Given the description of an element on the screen output the (x, y) to click on. 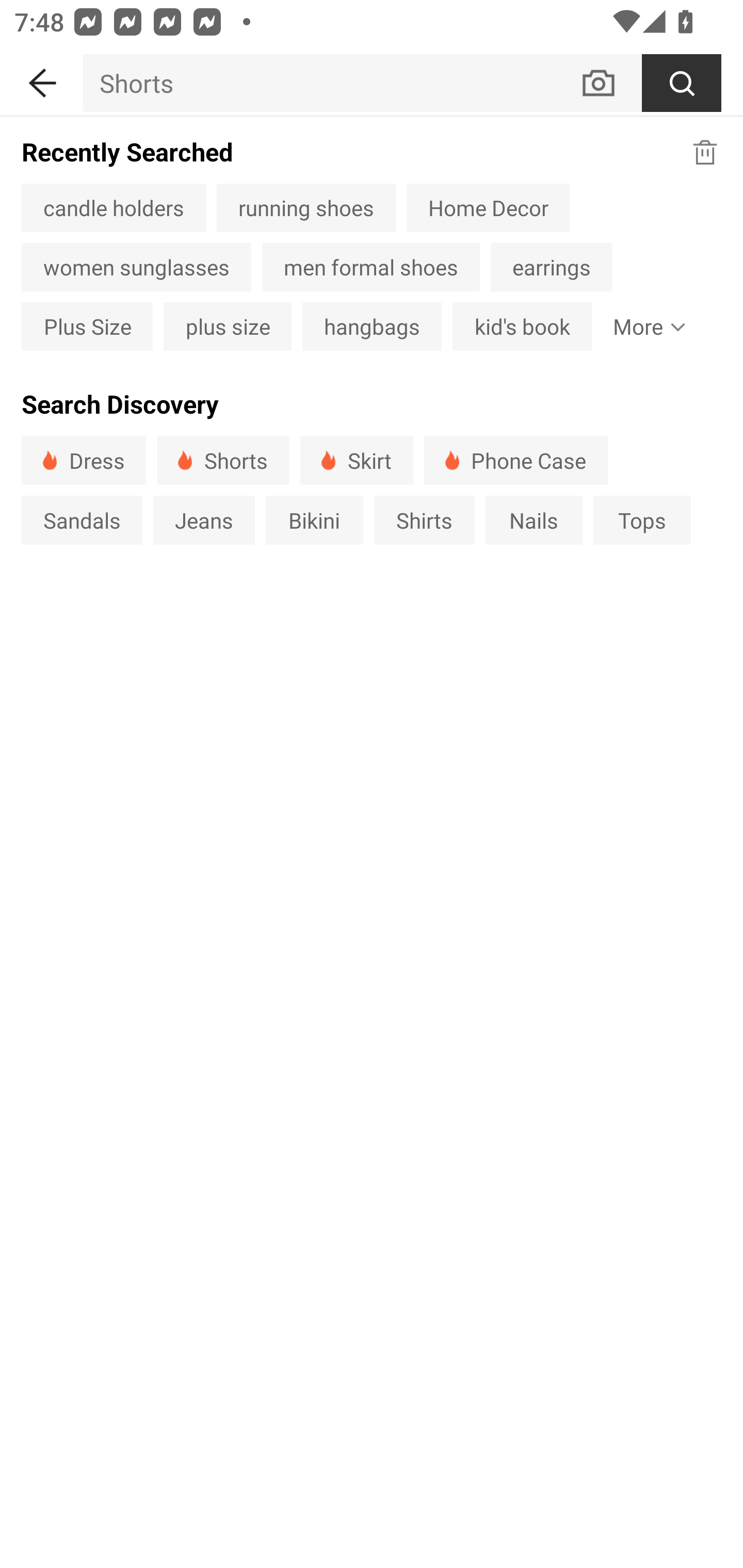
BACK (41, 79)
Shorts (330, 82)
candle holders (113, 207)
running shoes (306, 207)
Home Decor (487, 207)
women sunglasses (136, 267)
men formal shoes (370, 267)
earrings (551, 267)
Plus Size (87, 326)
plus size (227, 326)
hangbags (371, 326)
kid's book (522, 326)
More Show More (644, 326)
Dress (83, 459)
Shorts (222, 459)
Skirt (356, 459)
Phone Case (515, 459)
Sandals (81, 519)
Jeans (203, 519)
Bikini (314, 519)
Shirts (423, 519)
Nails (533, 519)
Tops (641, 519)
